Given the description of an element on the screen output the (x, y) to click on. 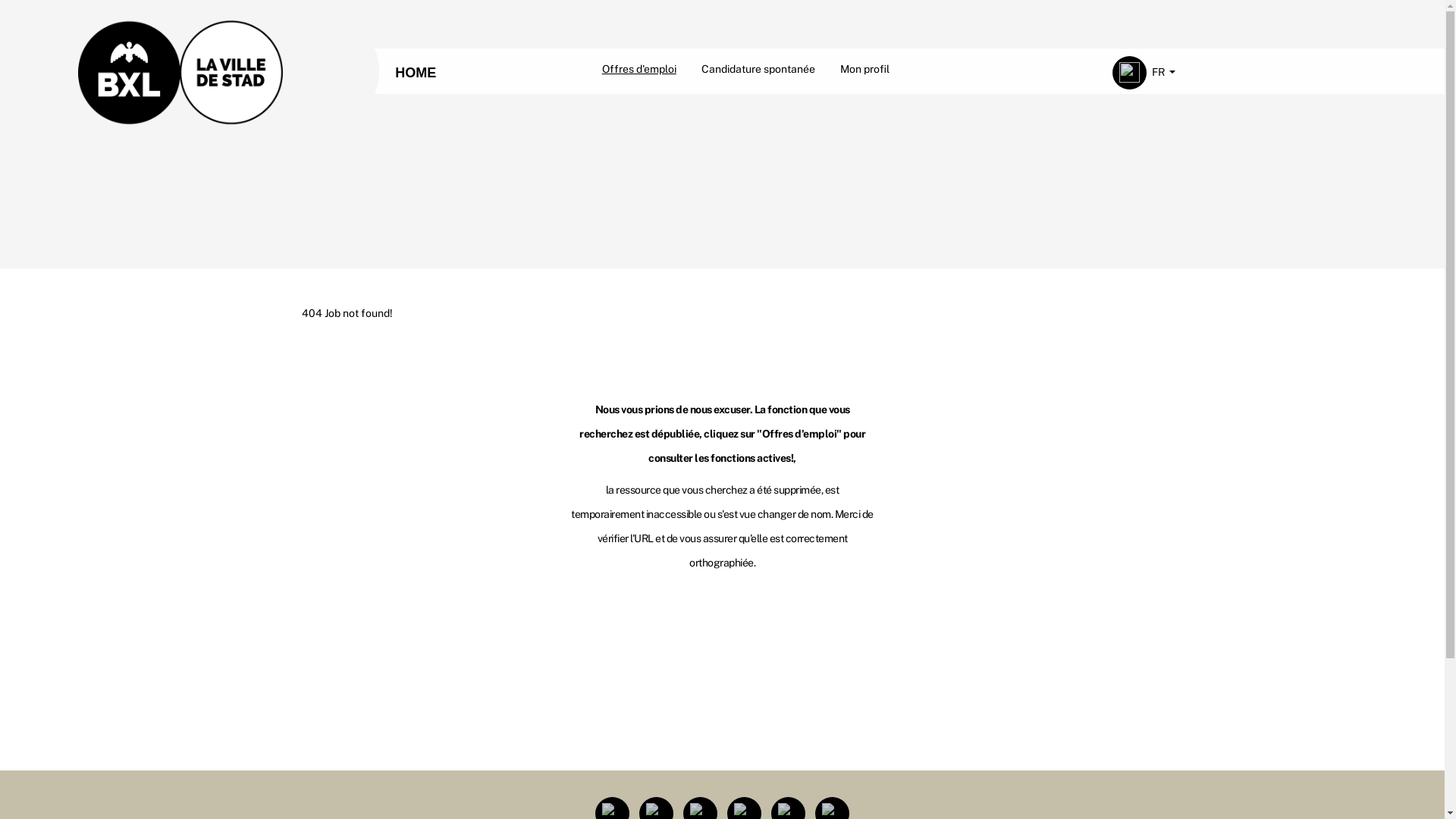
Offres d'emploi Element type: text (639, 68)
HOME Element type: text (415, 72)
Mon profil Element type: text (864, 68)
FR  Element type: text (1163, 71)
Page d'accueil Ville de Bruxelles Element type: hover (180, 68)
